Given the description of an element on the screen output the (x, y) to click on. 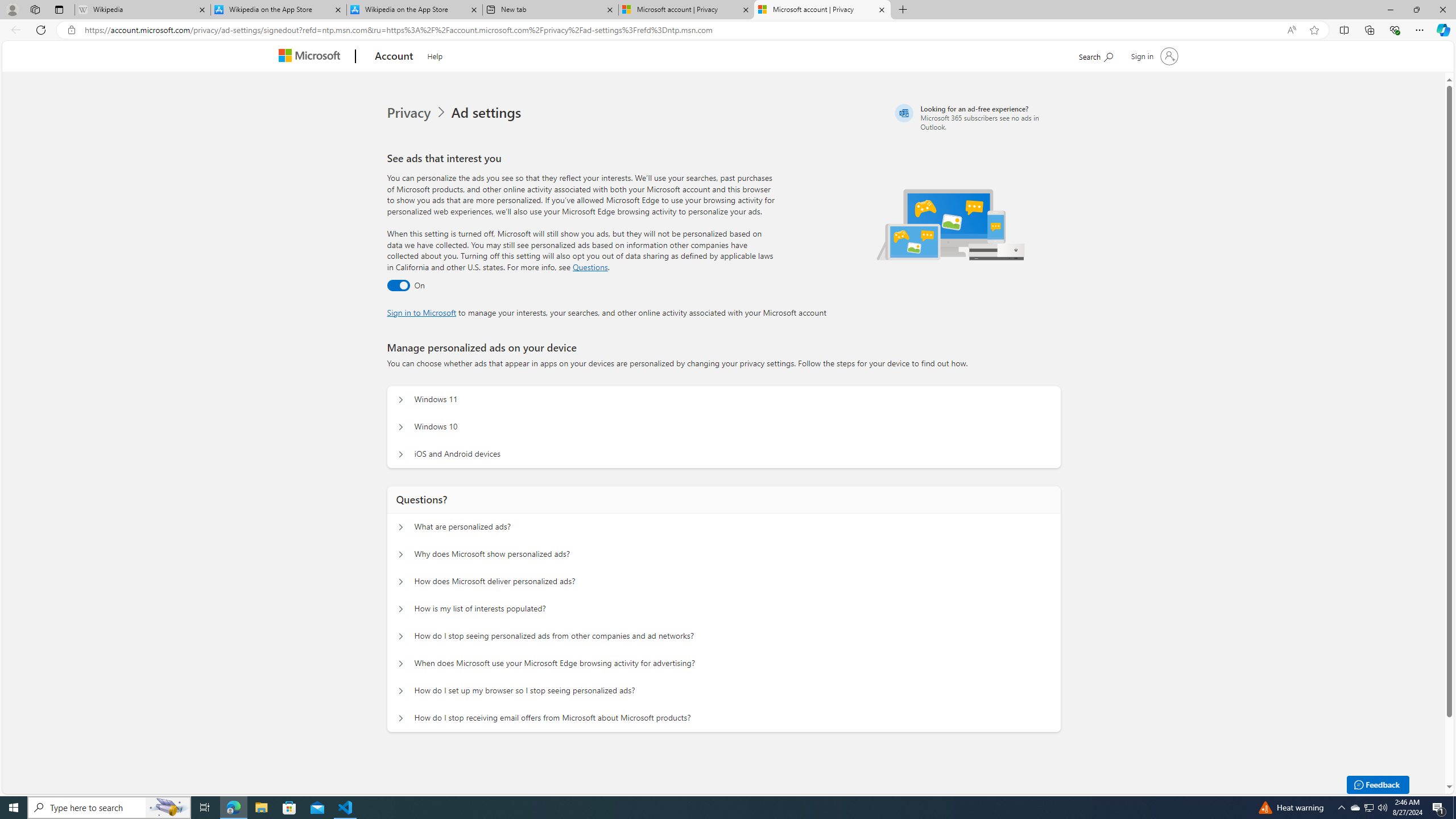
Questions? How is my list of interests populated? (401, 608)
Looking for an ad-free experience? (976, 117)
Ad settings (488, 112)
Questions? What are personalized ads? (401, 526)
